Given the description of an element on the screen output the (x, y) to click on. 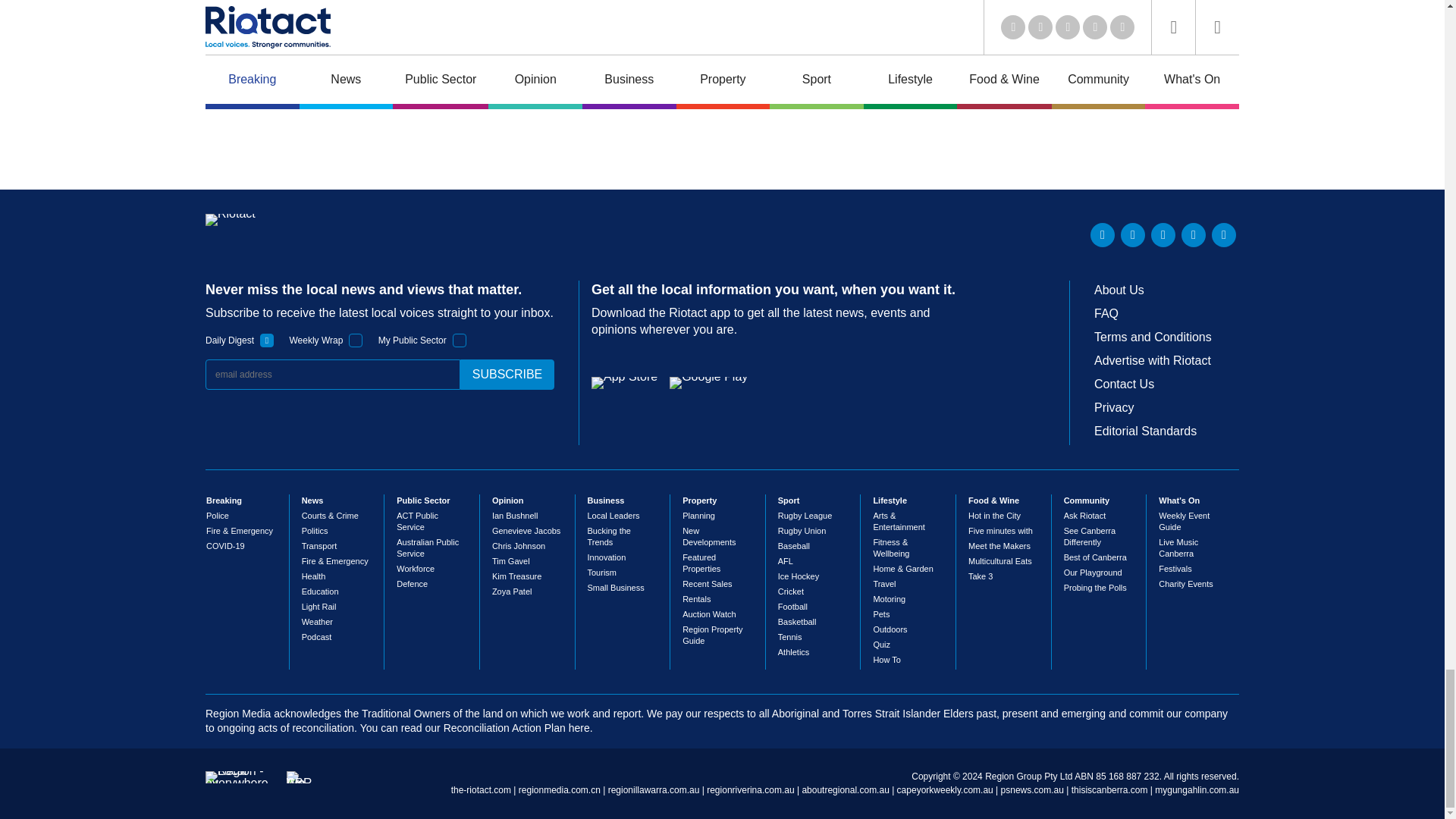
Twitter (1132, 234)
Instagram (1223, 234)
Facebook (1192, 234)
subscribe (507, 374)
Youtube (1162, 234)
App Store (624, 382)
LinkedIn (1102, 234)
1 (266, 340)
1 (458, 340)
1 (355, 340)
